Given the description of an element on the screen output the (x, y) to click on. 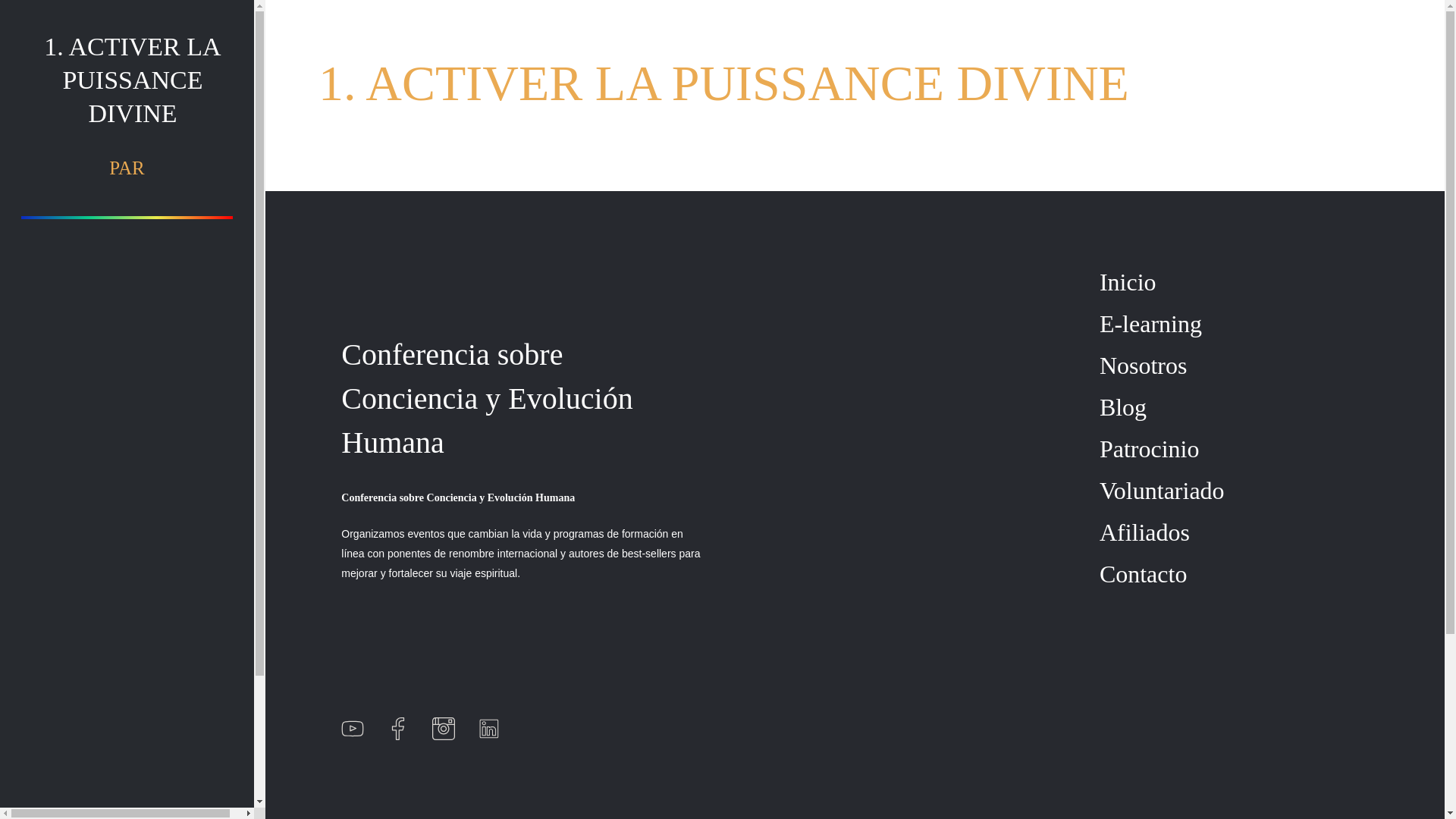
1. ACTIVER LA PUISSANCE DIVINE (133, 80)
Contacto (1143, 574)
Afiliados (1144, 532)
Nosotros (1143, 365)
E-learning (1150, 323)
Voluntariado (1161, 490)
Blog (1123, 406)
Patrocinio (1149, 448)
Inicio (1127, 281)
